Given the description of an element on the screen output the (x, y) to click on. 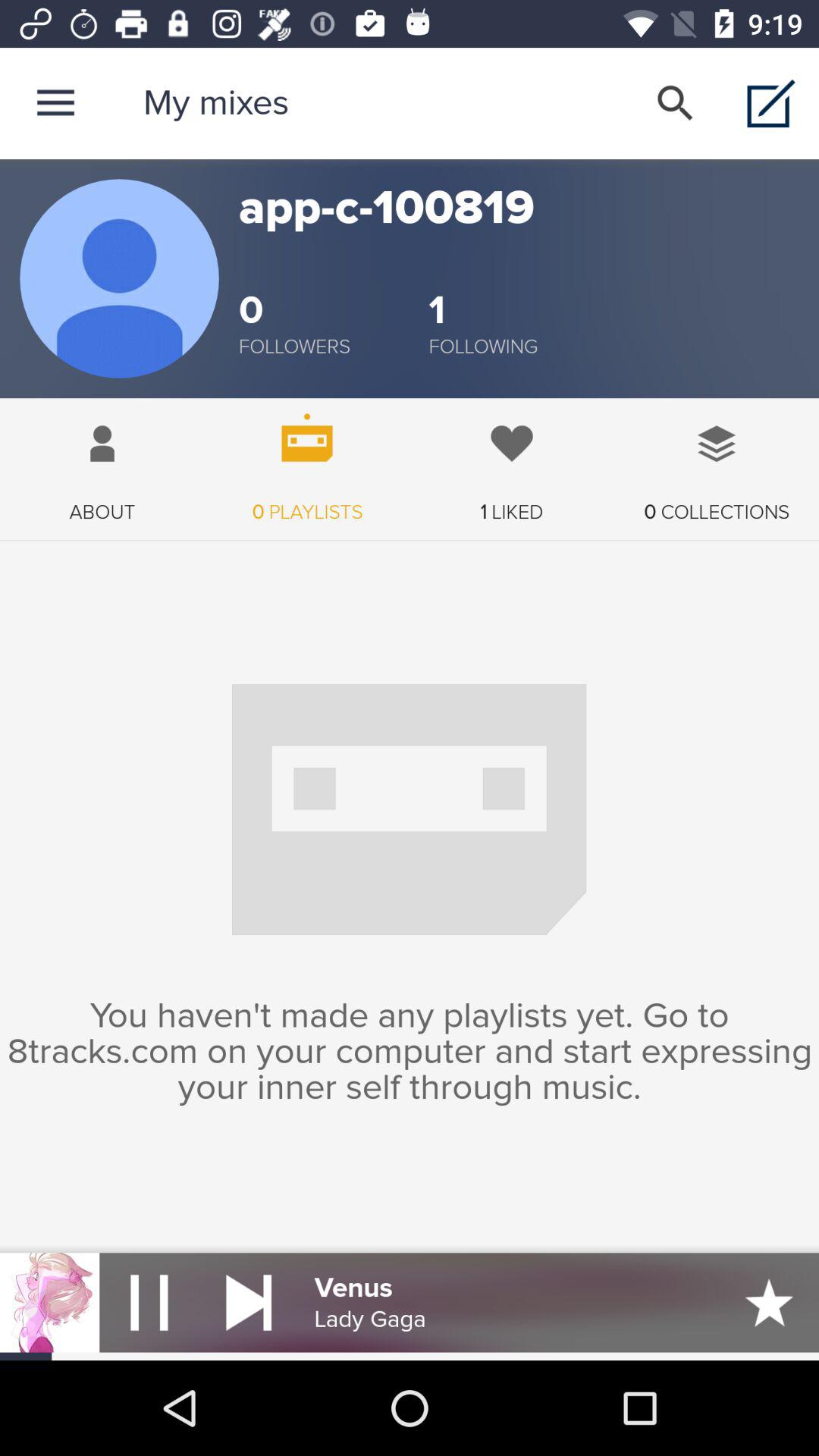
open the about (102, 461)
